Given the description of an element on the screen output the (x, y) to click on. 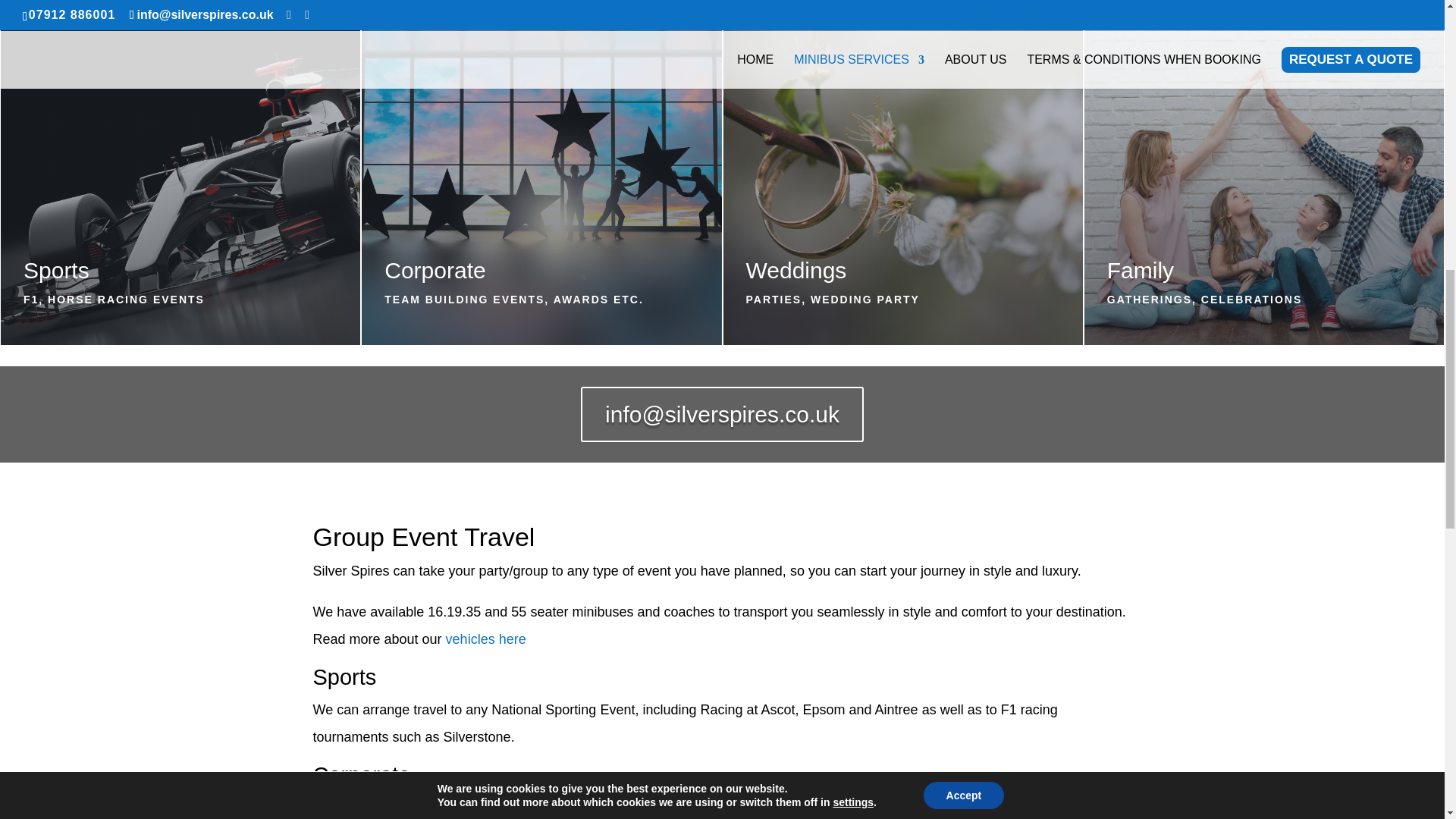
vehicles here (485, 639)
